Given the description of an element on the screen output the (x, y) to click on. 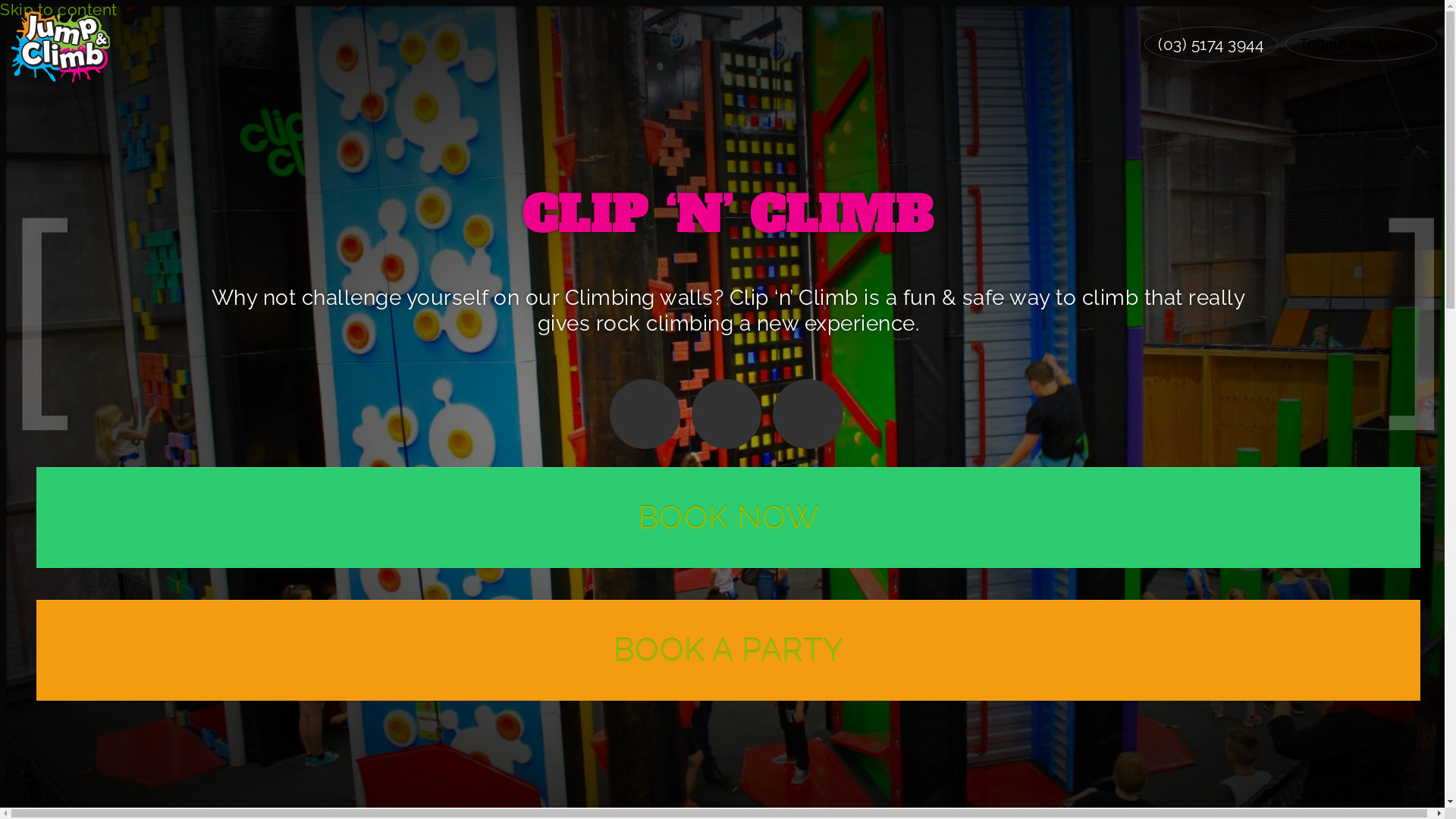
BOOK NOW Element type: text (728, 517)
Skip to content Element type: text (58, 9)
BOOK A PARTY Element type: text (728, 649)
Toggle navigation Element type: text (1361, 43)
